Given the description of an element on the screen output the (x, y) to click on. 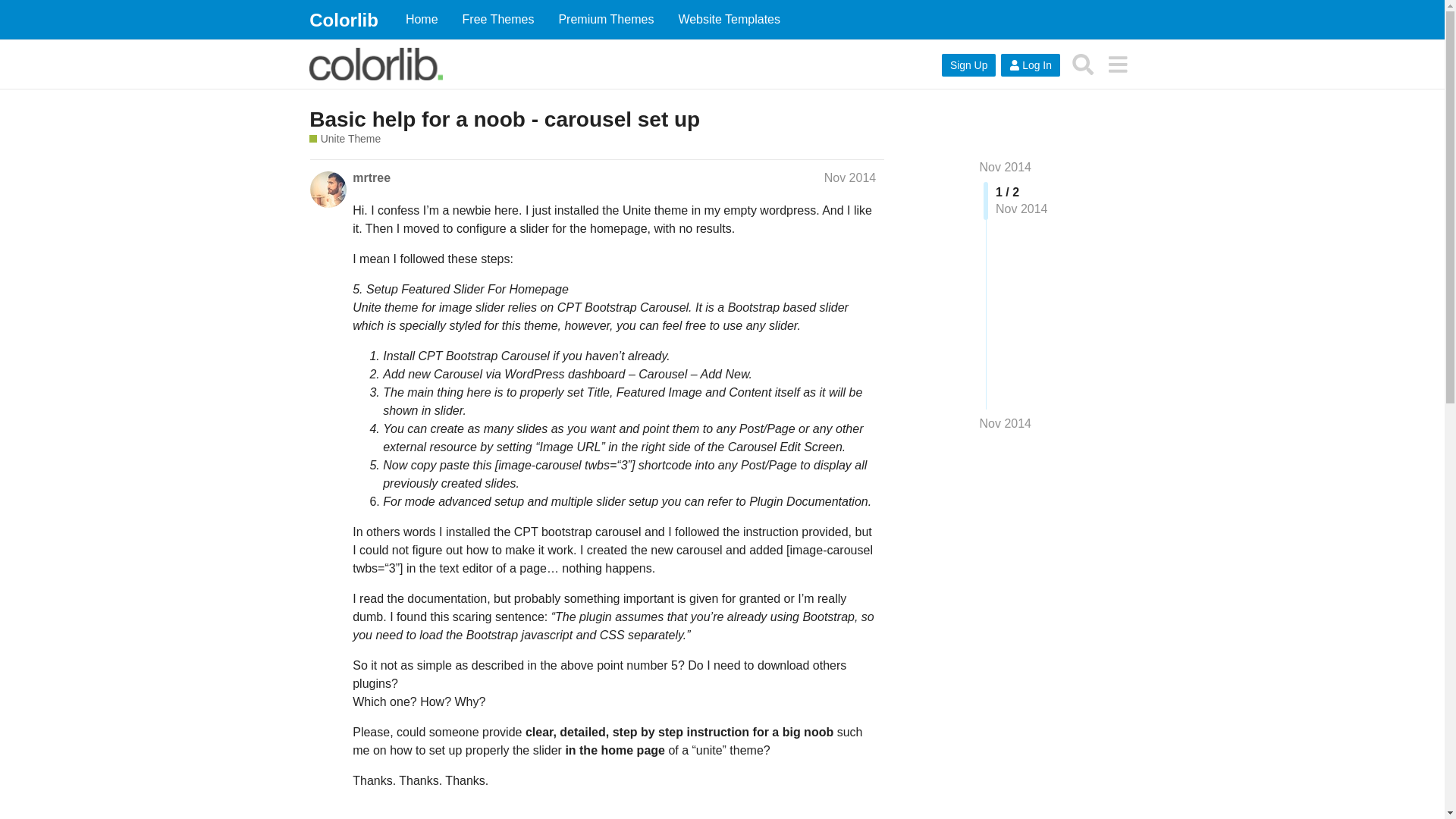
Log In (1030, 65)
Sign Up (968, 65)
Premium Themes (605, 19)
Nov 2014 (850, 177)
Jump to the last post (1005, 422)
Free Themes (497, 19)
menu (1117, 63)
Website Templates (728, 19)
Unite Theme (344, 138)
Nov 2014 (1005, 166)
Basic help for a noob - carousel set up (504, 119)
Post date (850, 177)
Search (1082, 63)
Jump to the first post (1005, 166)
Home (421, 19)
